Given the description of an element on the screen output the (x, y) to click on. 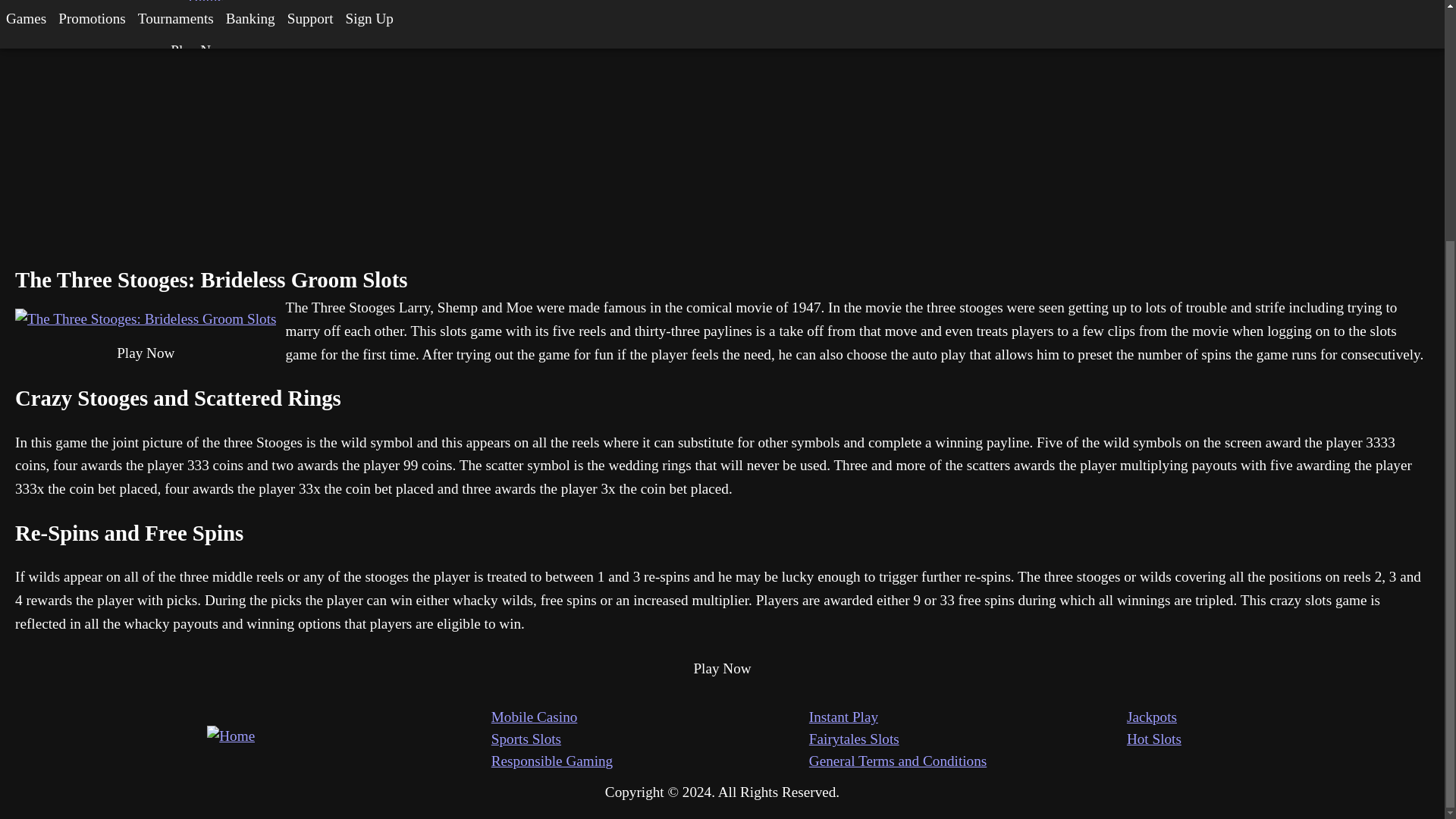
Sports Slots (650, 739)
Instant Play (967, 717)
Fairytales Slots (967, 739)
Play Now (722, 668)
General Terms and Conditions (967, 762)
Mobile Casino (650, 717)
Responsible Gaming (650, 762)
Play Now (145, 353)
